Given the description of an element on the screen output the (x, y) to click on. 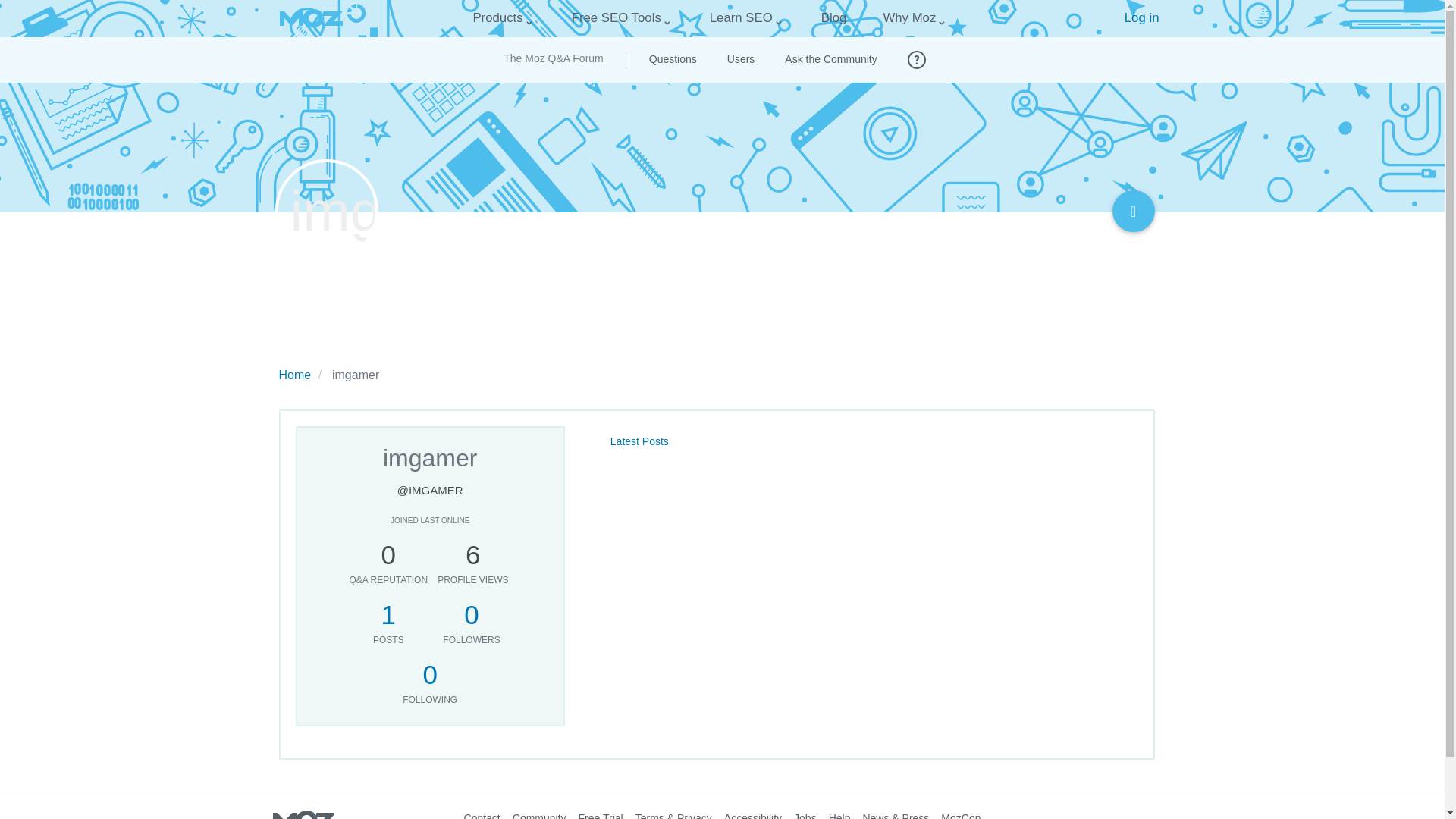
Moz Home (311, 18)
Products (496, 18)
Moz logo (303, 814)
Moz logo (311, 18)
Moz logo (311, 18)
